Given the description of an element on the screen output the (x, y) to click on. 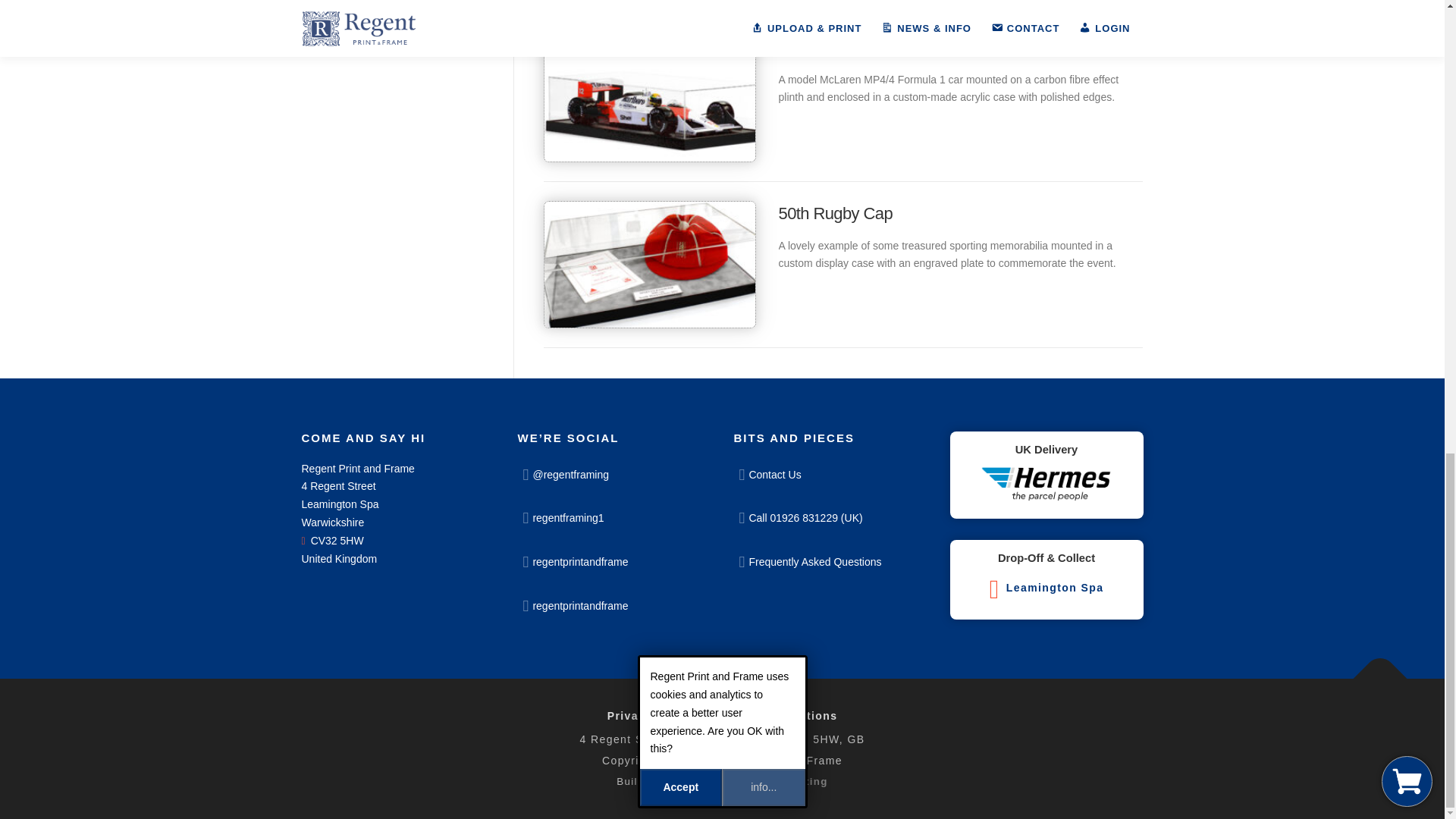
Model McLaren F1 Car (858, 46)
Pick-up from our Leamington Spa shop (1045, 583)
regentprintandframe (613, 605)
regentprintandframe (613, 560)
CV32 5HW (332, 540)
50th Rugby Cap (834, 212)
regentframing1 (613, 516)
Managed WordPress Hosting (776, 781)
Back To Top (1372, 670)
Contact Us (830, 474)
